Given the description of an element on the screen output the (x, y) to click on. 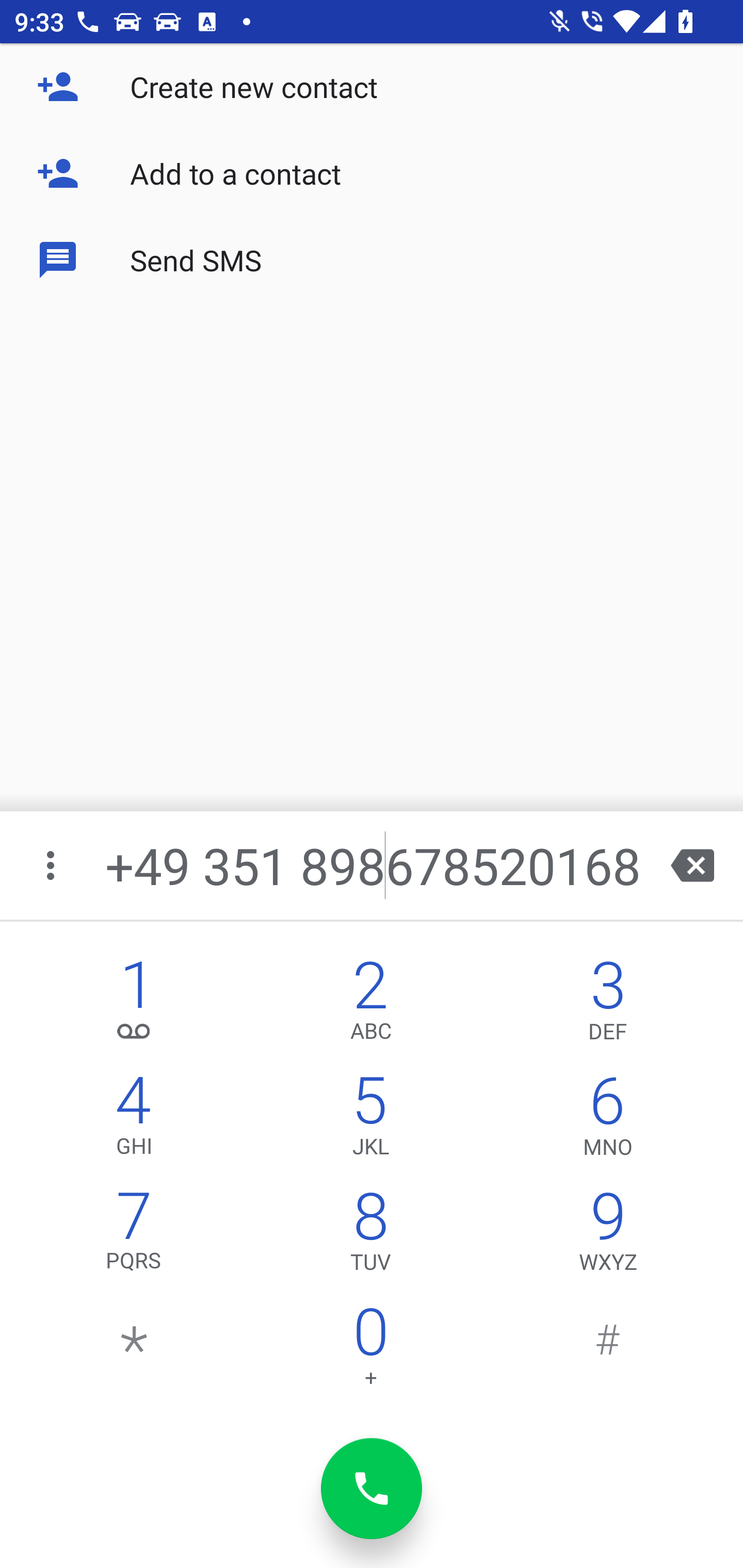
Create new contact (371, 86)
Add to a contact (371, 173)
Send SMS (371, 259)
+49 351 898678520168 (372, 865)
backspace (692, 865)
More options (52, 865)
1, 1 (133, 1005)
2,ABC 2 ABC (370, 1005)
3,DEF 3 DEF (607, 1005)
4,GHI 4 GHI (133, 1120)
5,JKL 5 JKL (370, 1120)
6,MNO 6 MNO (607, 1120)
7,PQRS 7 PQRS (133, 1235)
8,TUV 8 TUV (370, 1235)
9,WXYZ 9 WXYZ (607, 1235)
* (133, 1351)
0 0 + (370, 1351)
# (607, 1351)
dial (371, 1488)
